Given the description of an element on the screen output the (x, y) to click on. 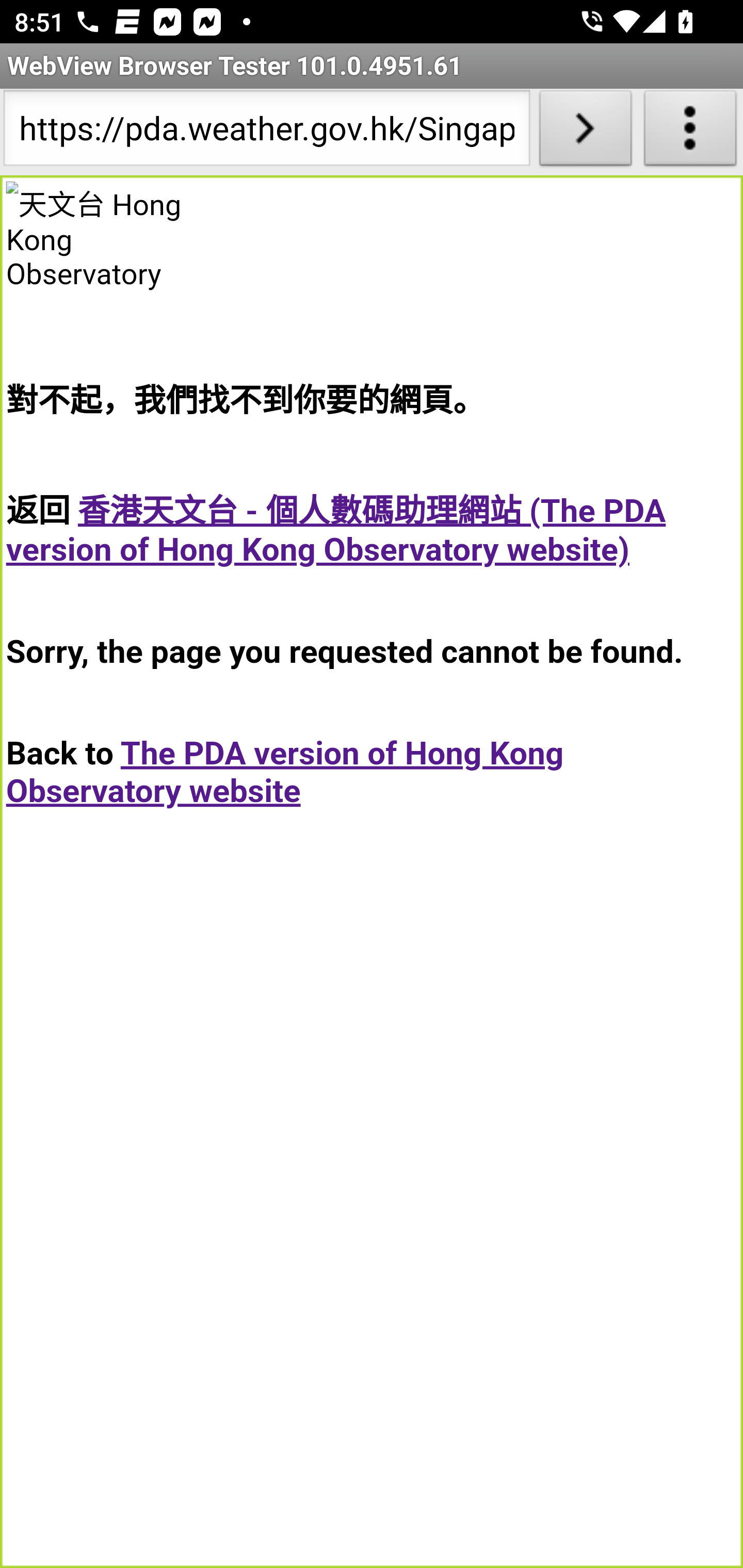
https://pda.weather.gov.hk/SingaporeHong%20Kong (266, 132)
Load URL (585, 132)
About WebView (690, 132)
The PDA version of Hong Kong Observatory website (284, 771)
